Given the description of an element on the screen output the (x, y) to click on. 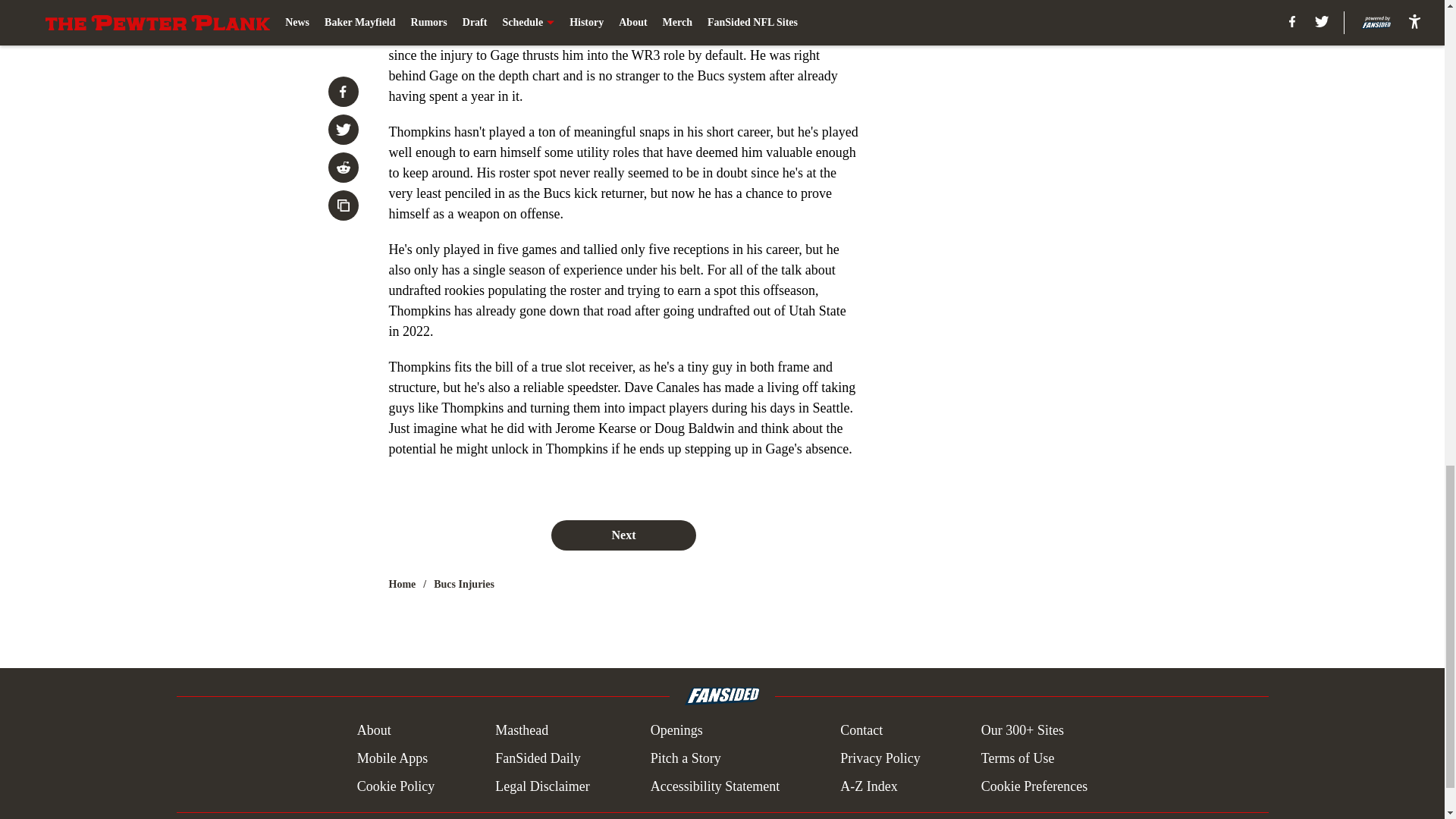
Pitch a Story (685, 758)
Privacy Policy (880, 758)
Terms of Use (1017, 758)
Openings (676, 730)
Home (401, 584)
About (373, 730)
Cookie Policy (395, 786)
Next (622, 535)
FanSided Daily (537, 758)
Legal Disclaimer (542, 786)
Mobile Apps (392, 758)
Bucs Injuries (464, 584)
Contact (861, 730)
Masthead (521, 730)
